Given the description of an element on the screen output the (x, y) to click on. 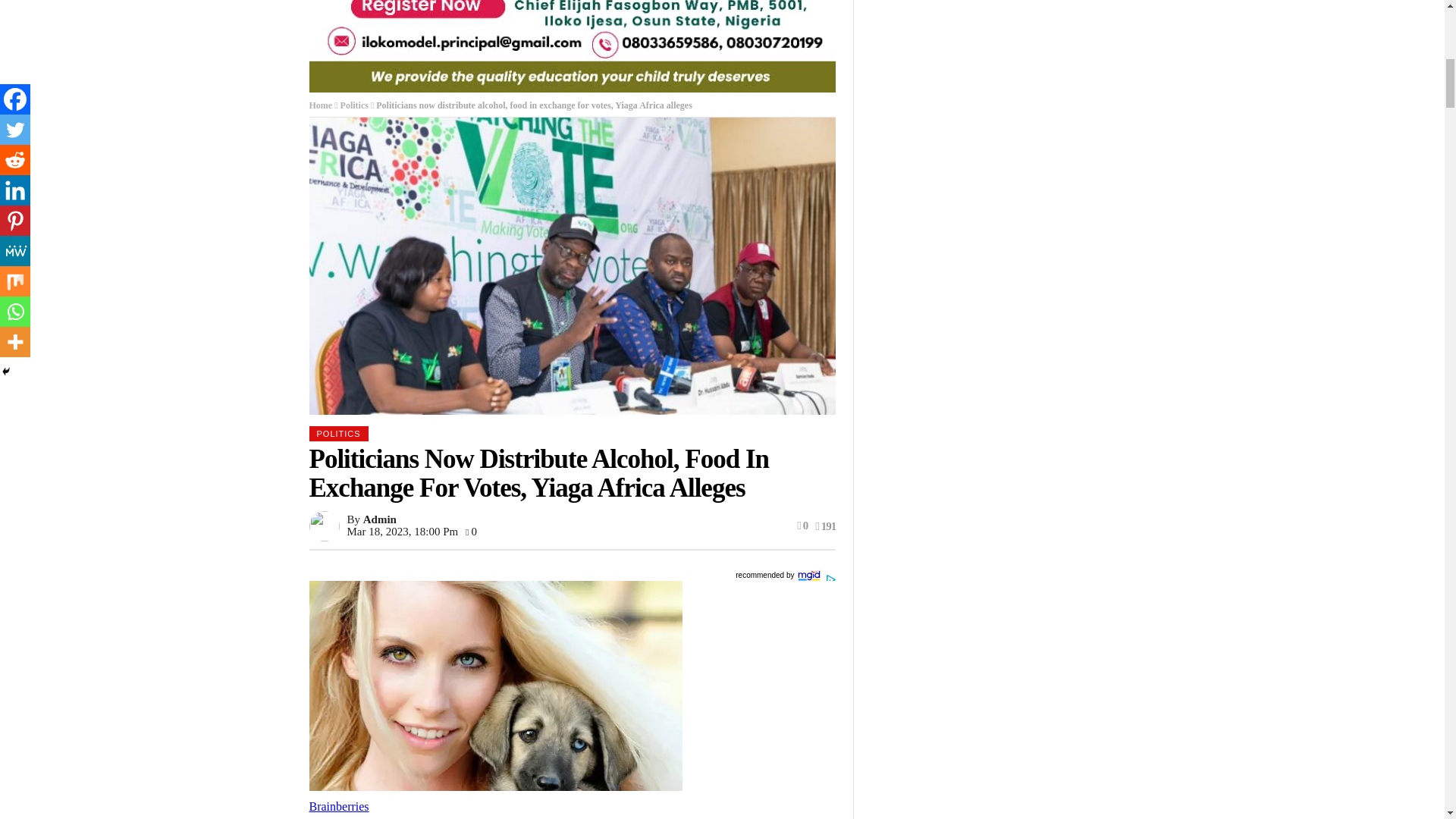
Home (320, 104)
Posts by admin (379, 519)
0 (471, 531)
Politics (354, 104)
Admin (379, 519)
POLITICS (338, 433)
